Given the description of an element on the screen output the (x, y) to click on. 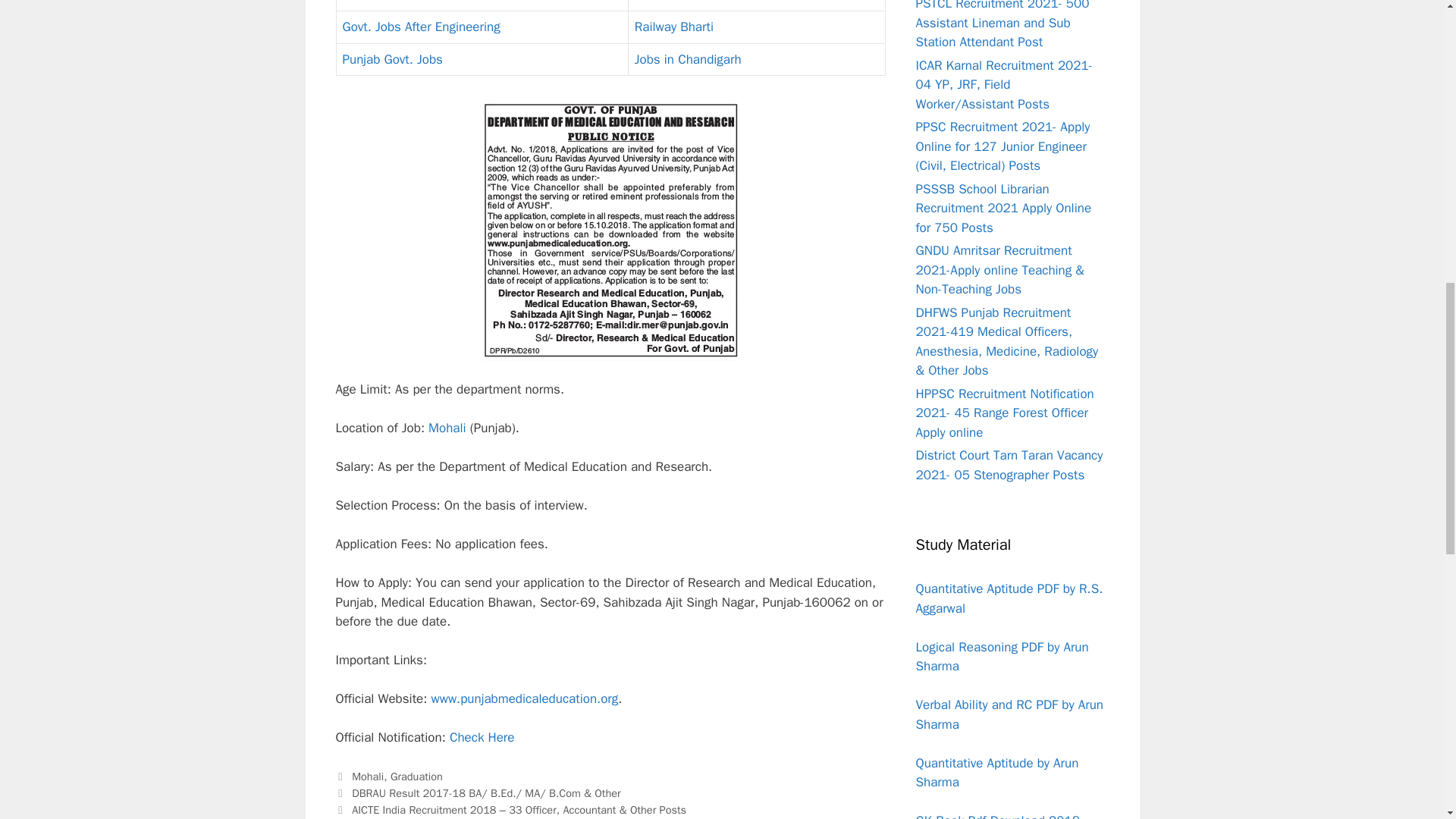
Mohali (446, 427)
www.punjabmedicaleducation.org (523, 698)
Mohali (368, 775)
Jobs in Chandigarh (687, 59)
Graduation (664, 1)
Check Here (482, 737)
Scroll back to top (1406, 720)
Govt. Jobs After Engineering (421, 26)
Graduation (416, 775)
